Given the description of an element on the screen output the (x, y) to click on. 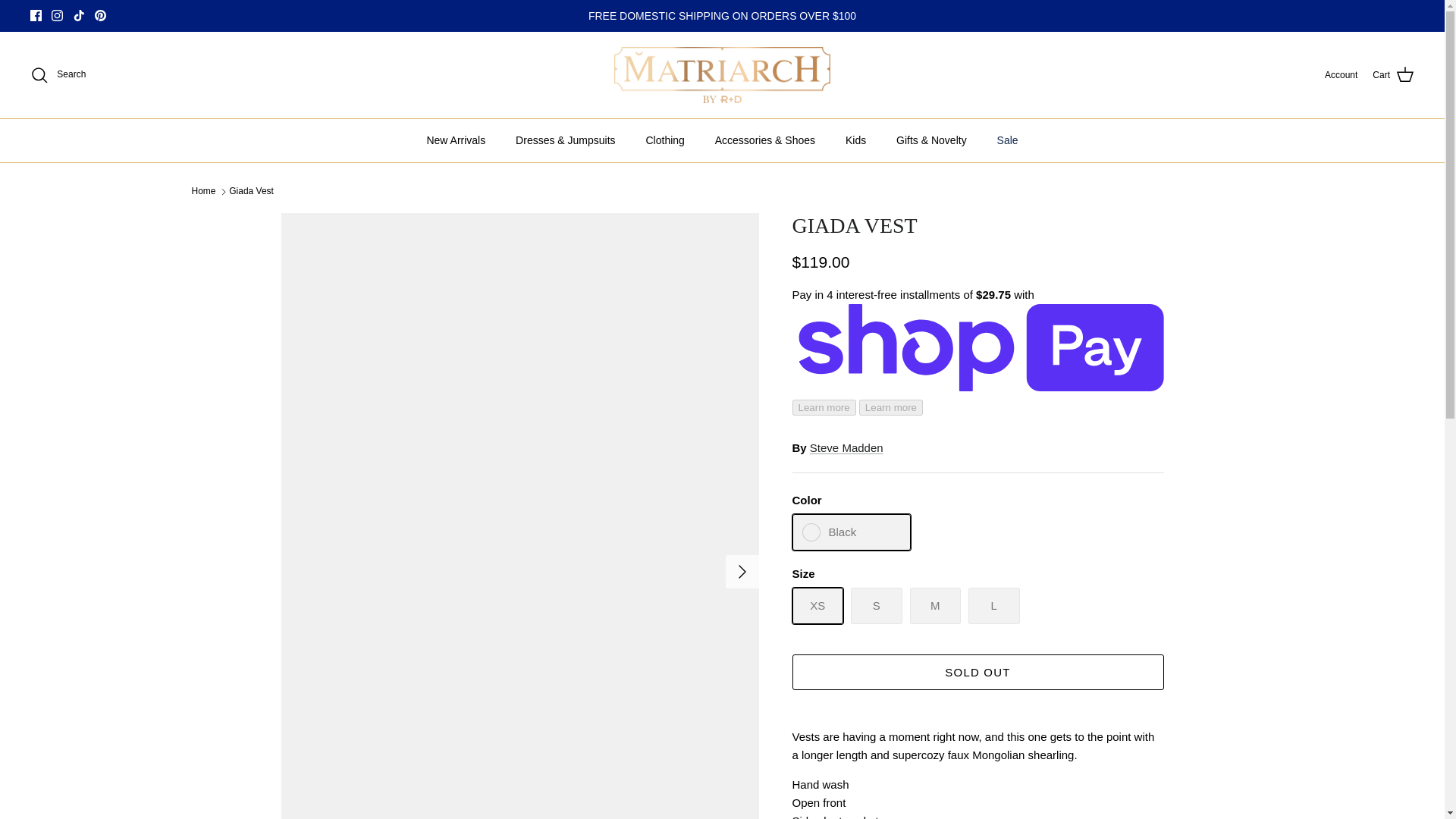
Instagram (56, 15)
Clothing (664, 140)
Facebook (36, 15)
New Arrivals (455, 140)
Pinterest (100, 15)
Cart (1393, 75)
Account (1340, 74)
Facebook (36, 15)
RIGHT (741, 571)
Pinterest (100, 15)
Instagram (56, 15)
Search (57, 75)
